Given the description of an element on the screen output the (x, y) to click on. 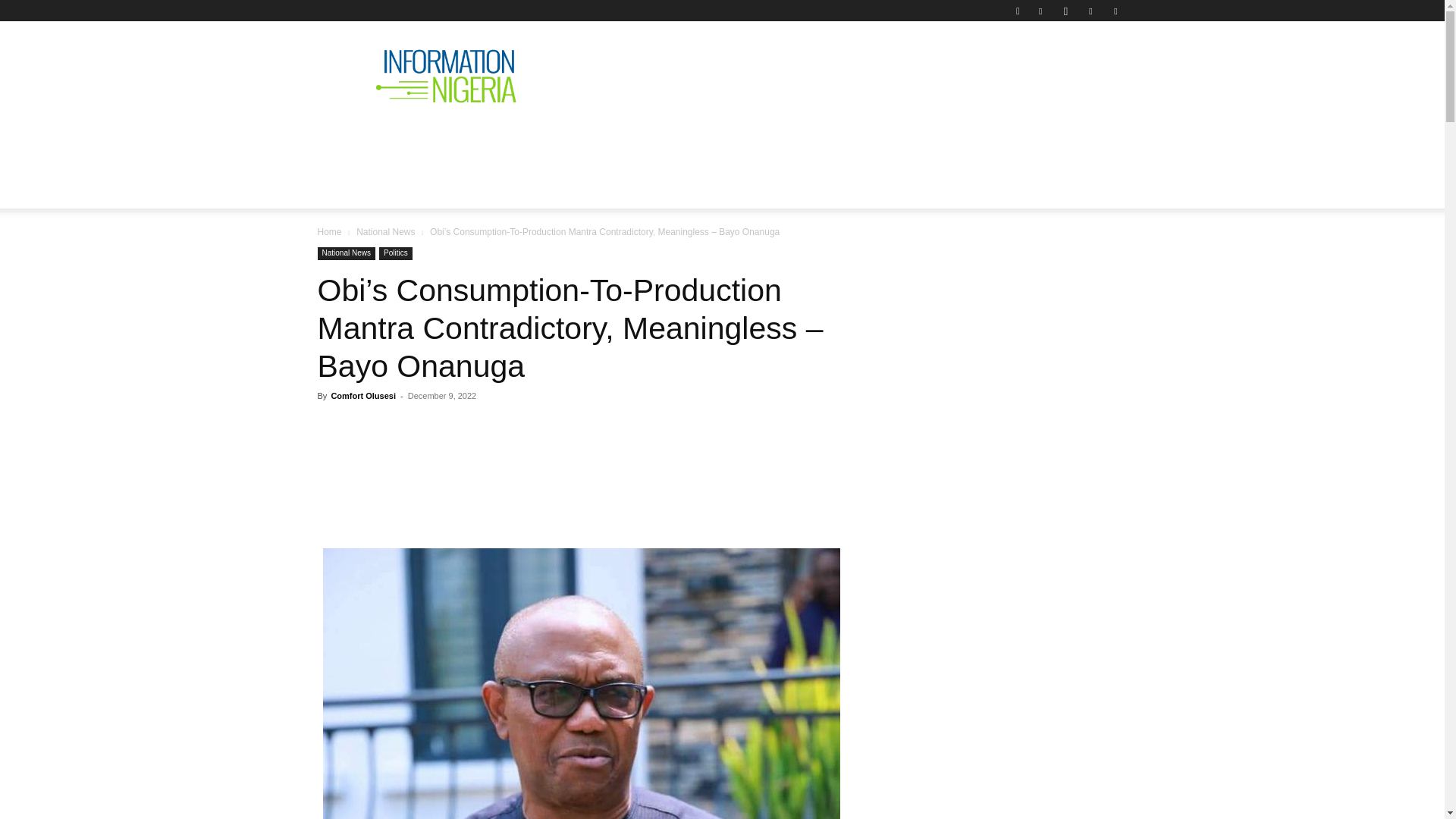
Nigeria News, Nigerian Newspaper (446, 76)
Youtube (1114, 10)
Twitter (1090, 10)
BBC PIDGIN (779, 139)
METRO NEWS (884, 139)
Search (1085, 64)
View all posts in National News (385, 231)
SPECIAL REPORTS (660, 139)
POLITICS (551, 139)
Instagram (1065, 10)
SPORTS (974, 139)
HOME (347, 139)
NATIONAL NEWS (444, 139)
Facebook (1040, 10)
